Given the description of an element on the screen output the (x, y) to click on. 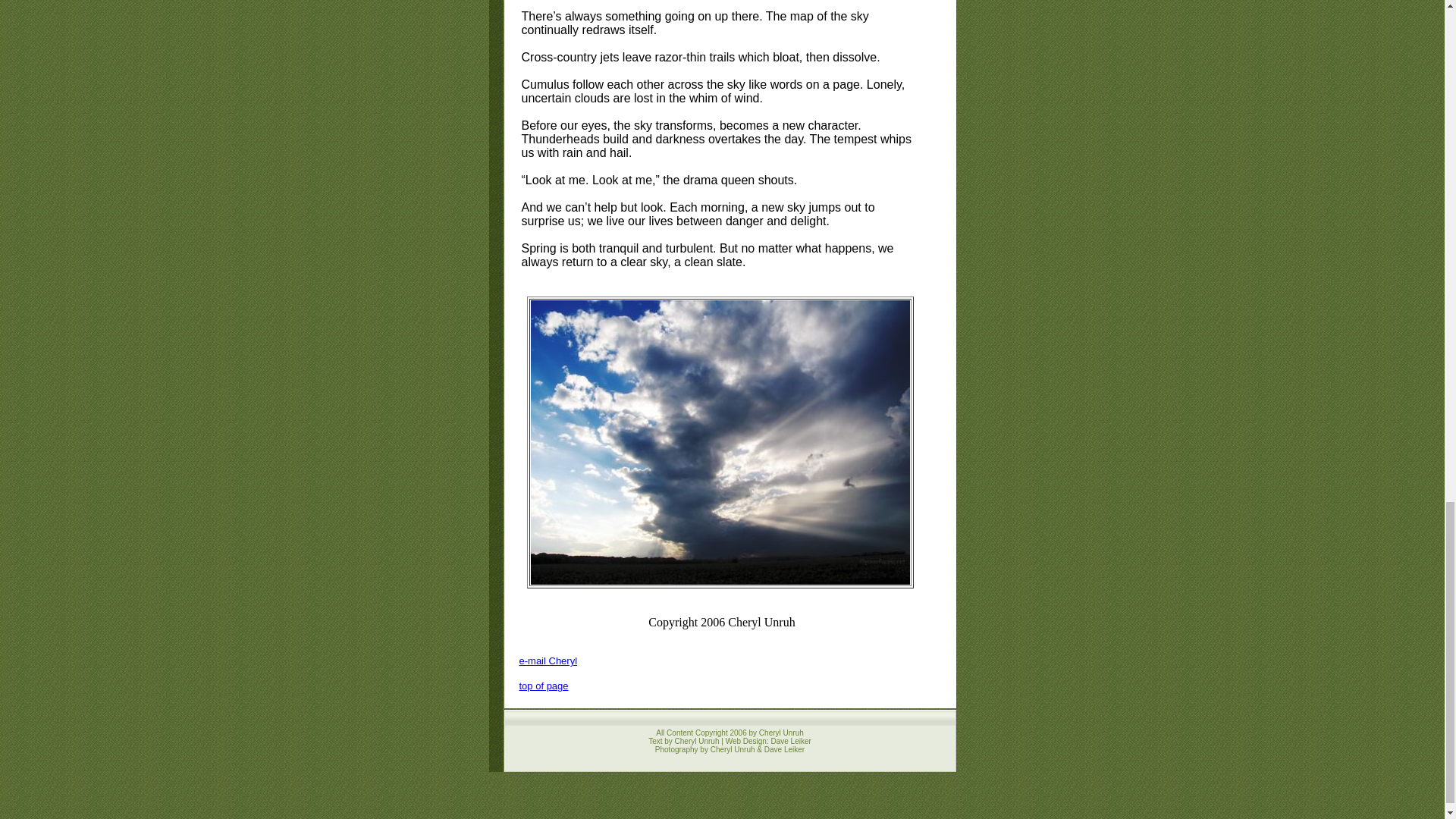
e-mail Cheryl (547, 660)
top of page (542, 685)
